Given the description of an element on the screen output the (x, y) to click on. 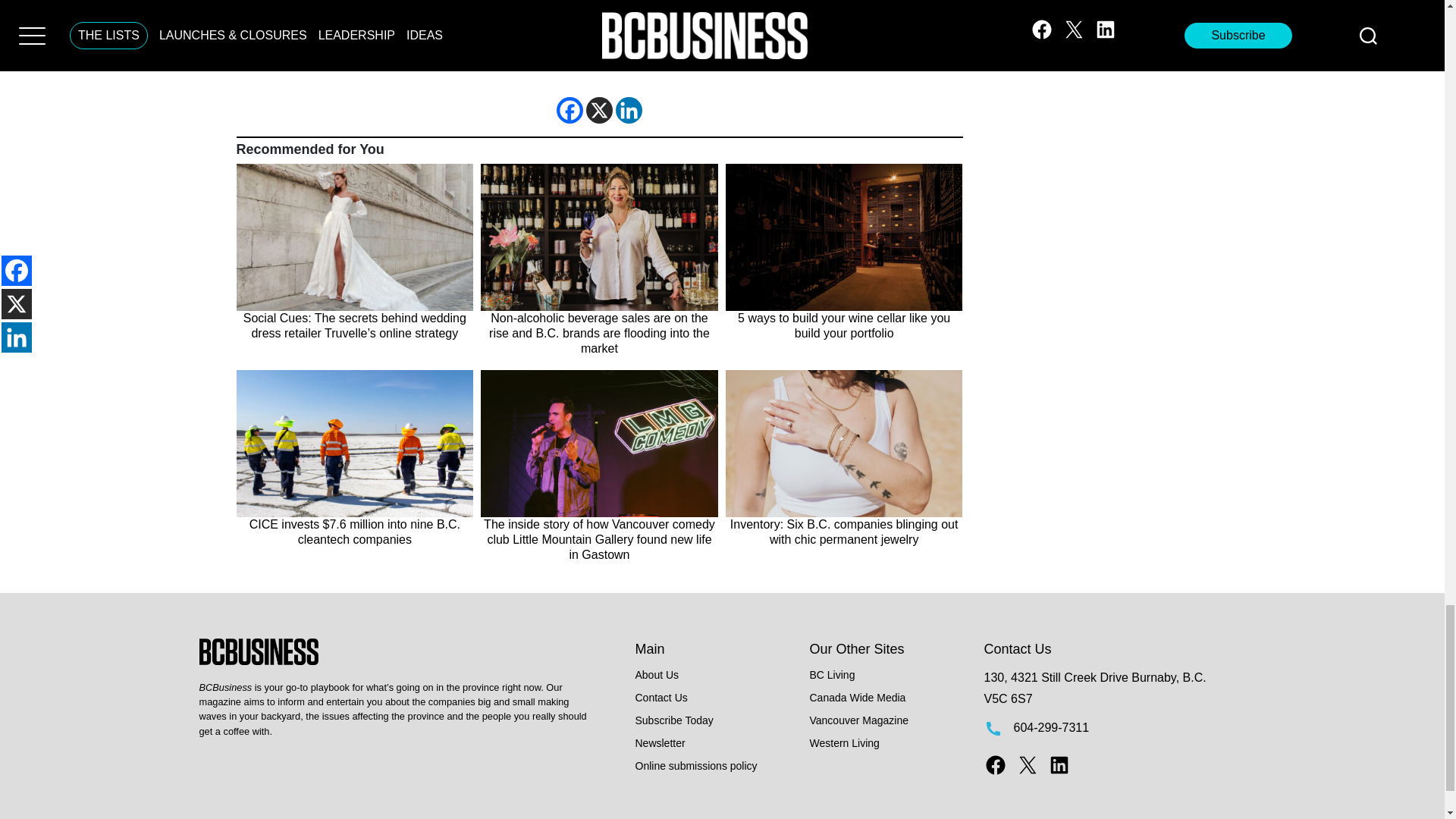
Linkedin (628, 110)
Facebook (569, 110)
3rd party ad content (599, 38)
X (599, 110)
